Given the description of an element on the screen output the (x, y) to click on. 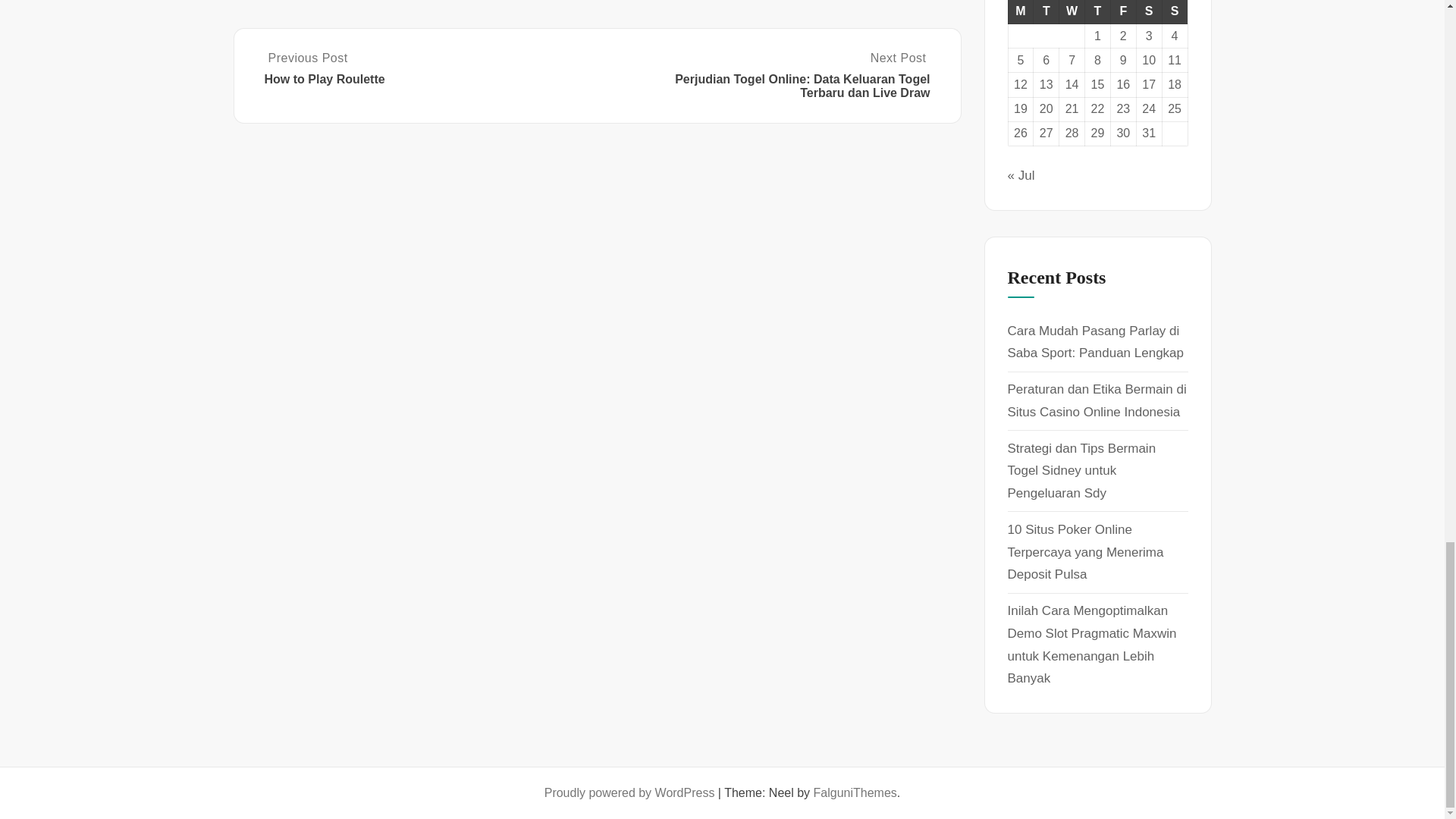
Tuesday (1046, 11)
Saturday (1148, 11)
Wednesday (1071, 11)
Sunday (1174, 11)
Thursday (1097, 11)
Friday (1122, 11)
Monday (1020, 11)
